Given the description of an element on the screen output the (x, y) to click on. 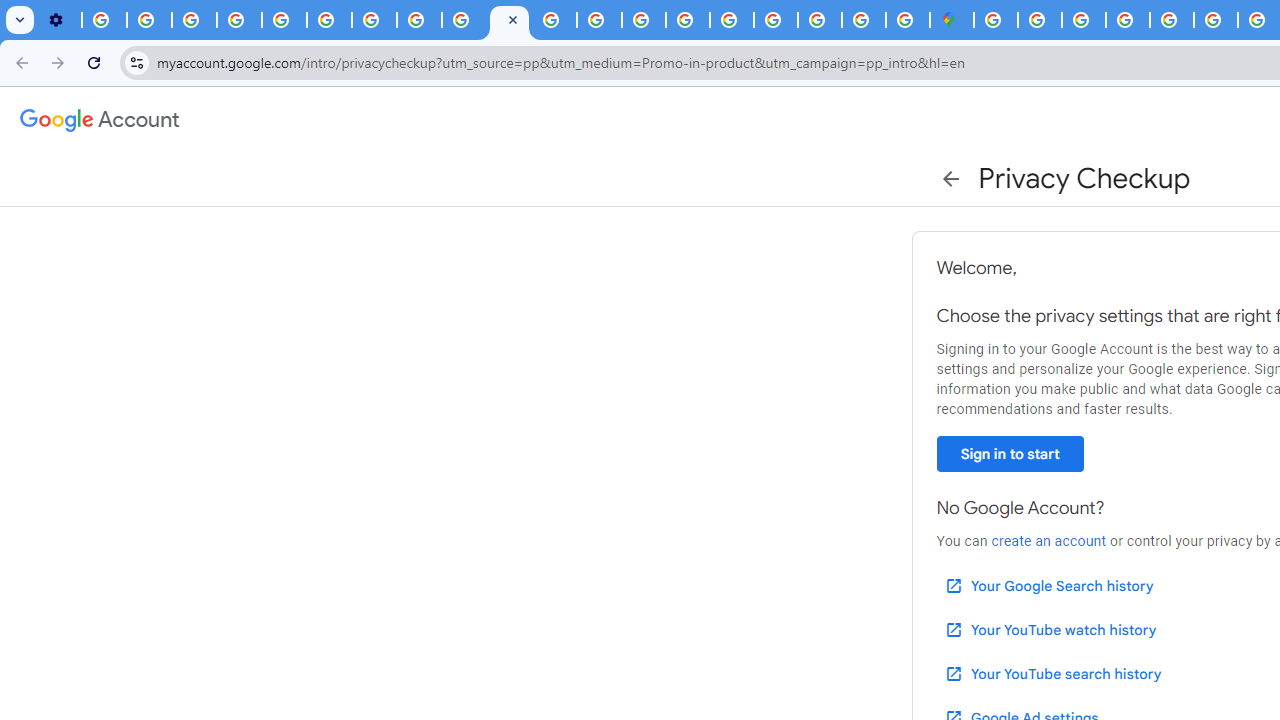
Sign in to start (1009, 454)
Privacy Help Center - Policies Help (284, 20)
Privacy Help Center - Policies Help (599, 20)
https://scholar.google.com/ (554, 20)
